Given the description of an element on the screen output the (x, y) to click on. 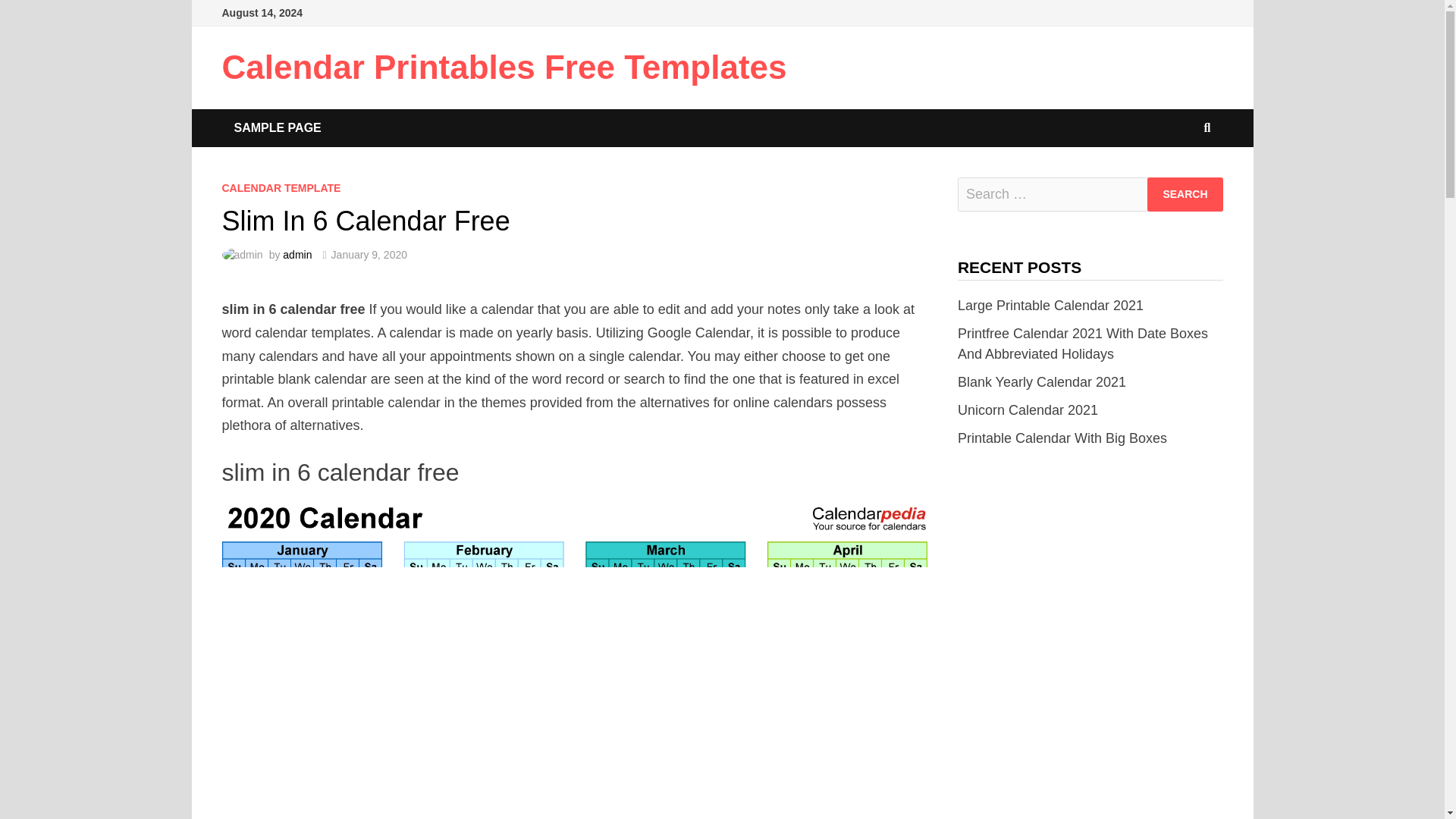
Calendar Printables Free Templates (503, 66)
Search (1185, 194)
Search (1185, 194)
Large Printable Calendar 2021 (1050, 305)
Unicorn Calendar 2021 (1027, 409)
January 9, 2020 (369, 254)
Printable Calendar With Big Boxes (1062, 437)
Blank Yearly Calendar 2021 (1041, 381)
